Given the description of an element on the screen output the (x, y) to click on. 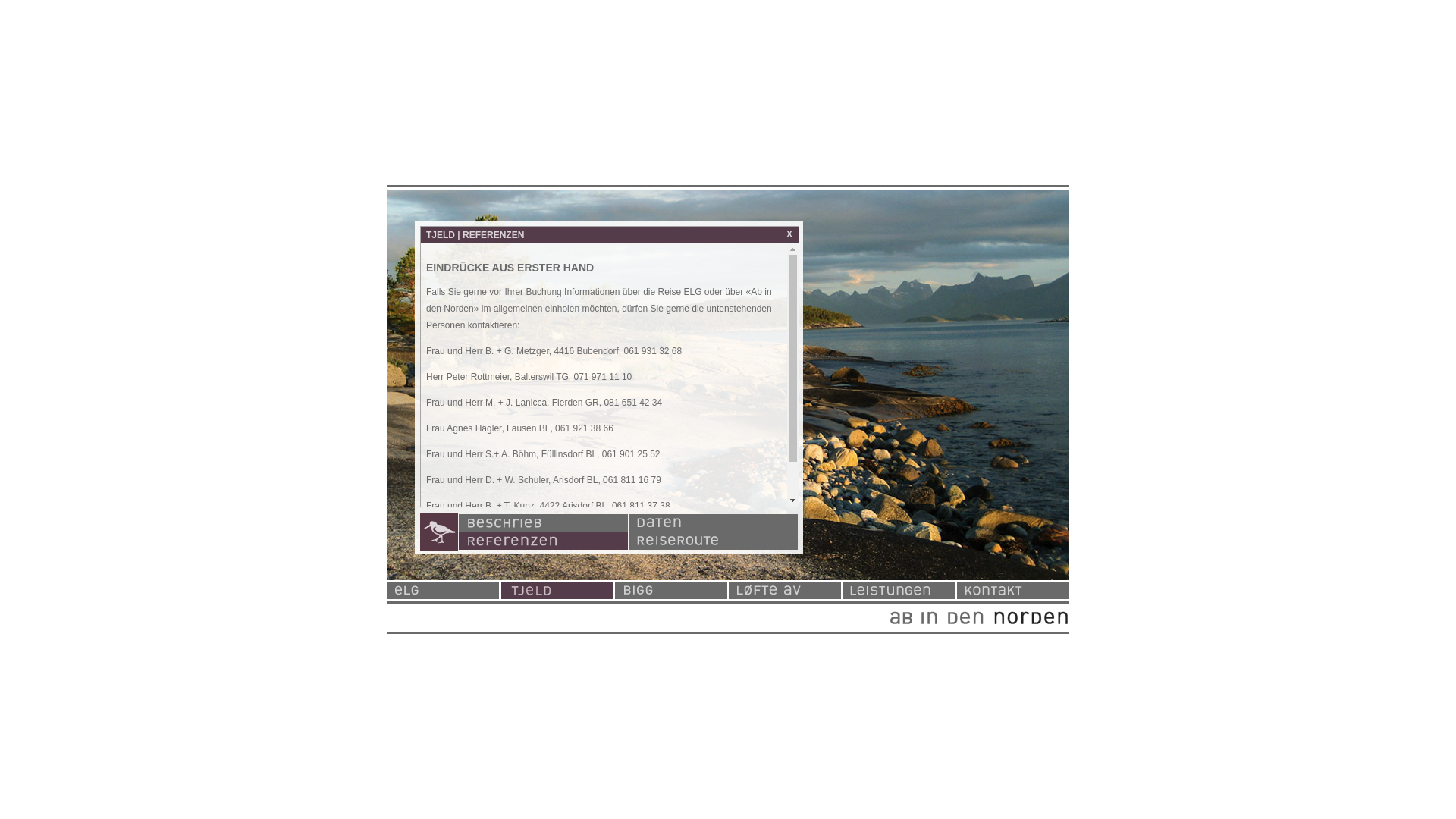
X Element type: text (789, 234)
